Given the description of an element on the screen output the (x, y) to click on. 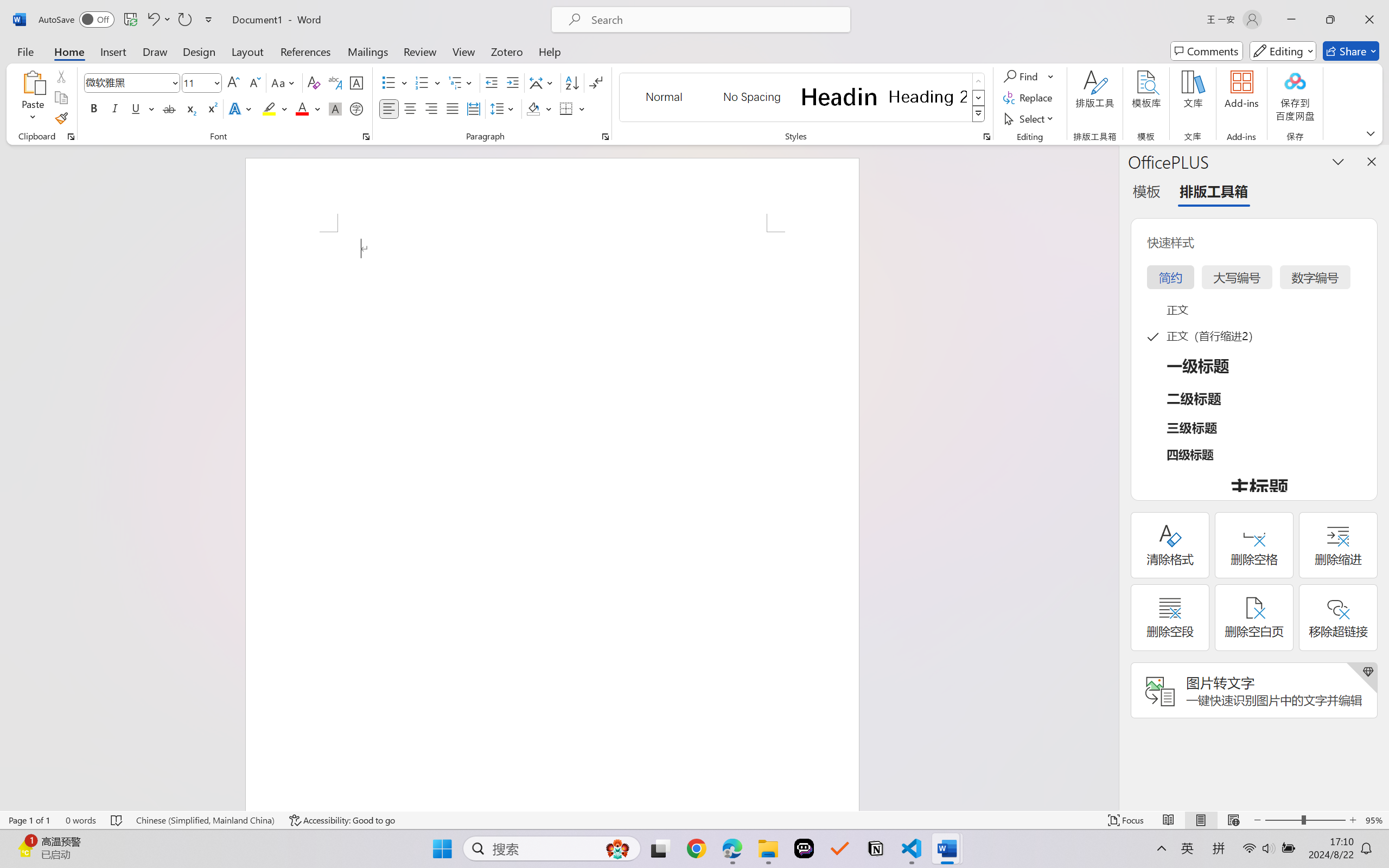
Zoom 95% (1374, 819)
